Given the description of an element on the screen output the (x, y) to click on. 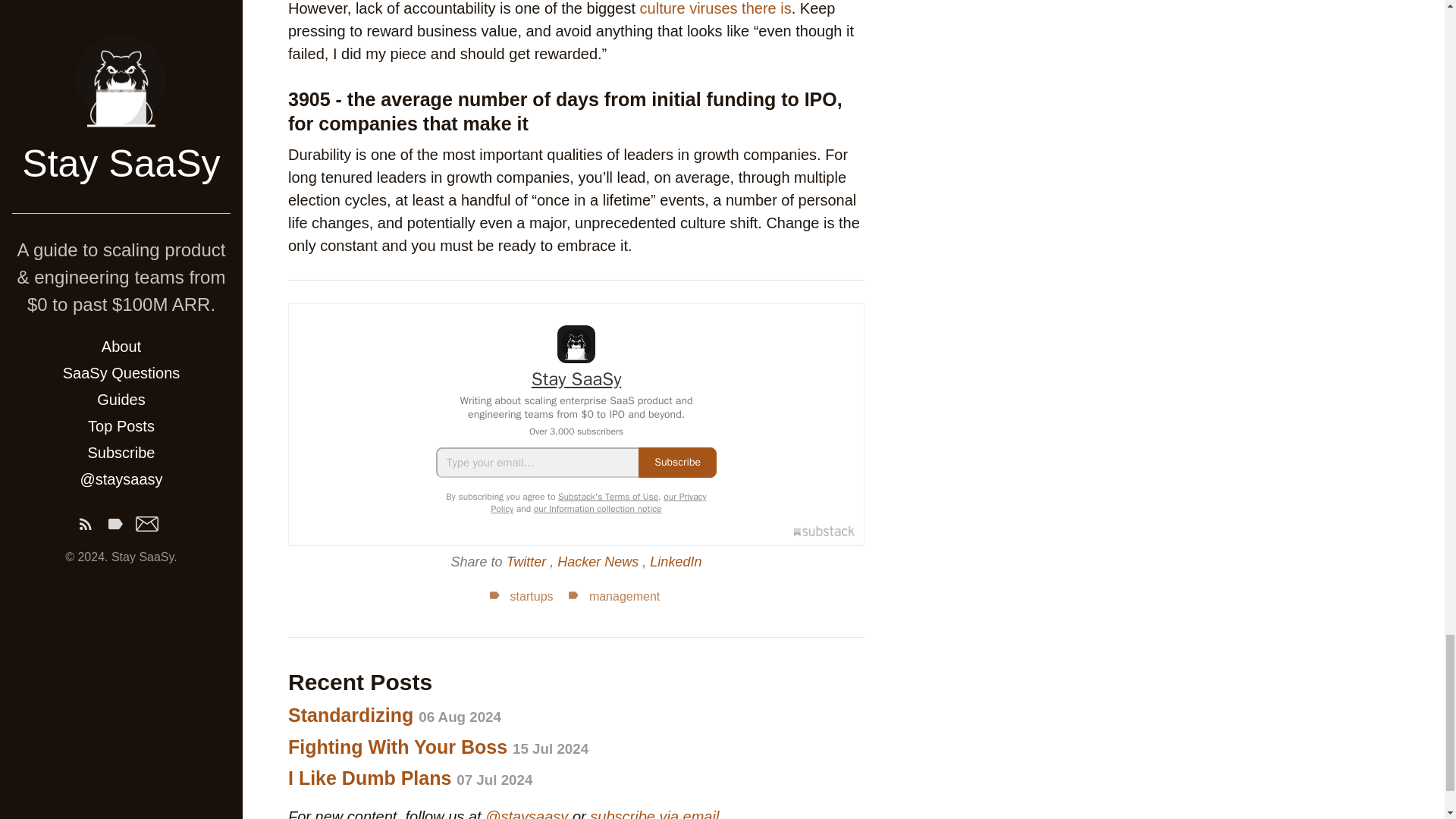
Standardizing 06 Aug 2024 (394, 714)
 management (611, 595)
 startups (520, 595)
Twitter (528, 561)
subscribe via email (654, 813)
LinkedIn (675, 561)
I Like Dumb Plans 07 Jul 2024 (410, 777)
Fighting With Your Boss 15 Jul 2024 (438, 745)
Hacker News (599, 561)
culture viruses there is (716, 8)
